Given the description of an element on the screen output the (x, y) to click on. 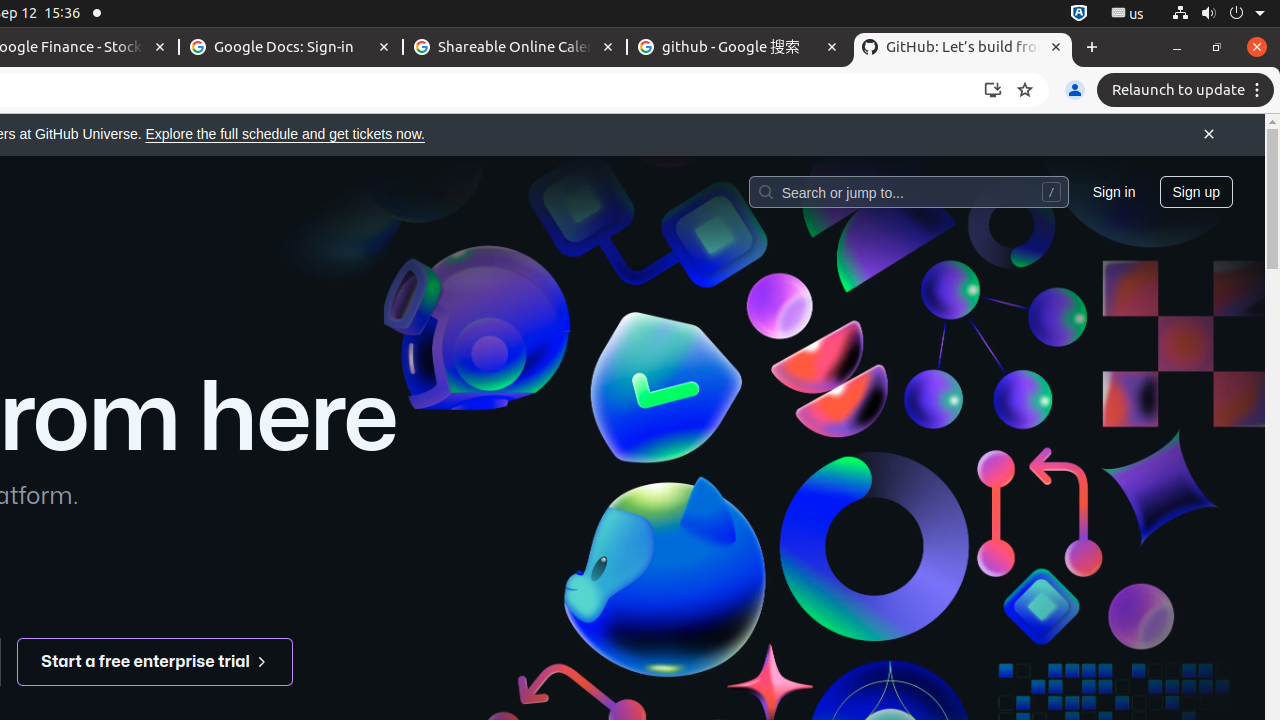
Close Element type: push-button (1209, 135)
github - Google 搜索 - Memory usage - 111 MB Element type: page-tab (739, 47)
Sign in Element type: link (1114, 191)
Google Docs: Sign-in - Memory usage - 31.9 MB Element type: page-tab (291, 47)
:1.72/StatusNotifierItem Element type: menu (1079, 13)
